Given the description of an element on the screen output the (x, y) to click on. 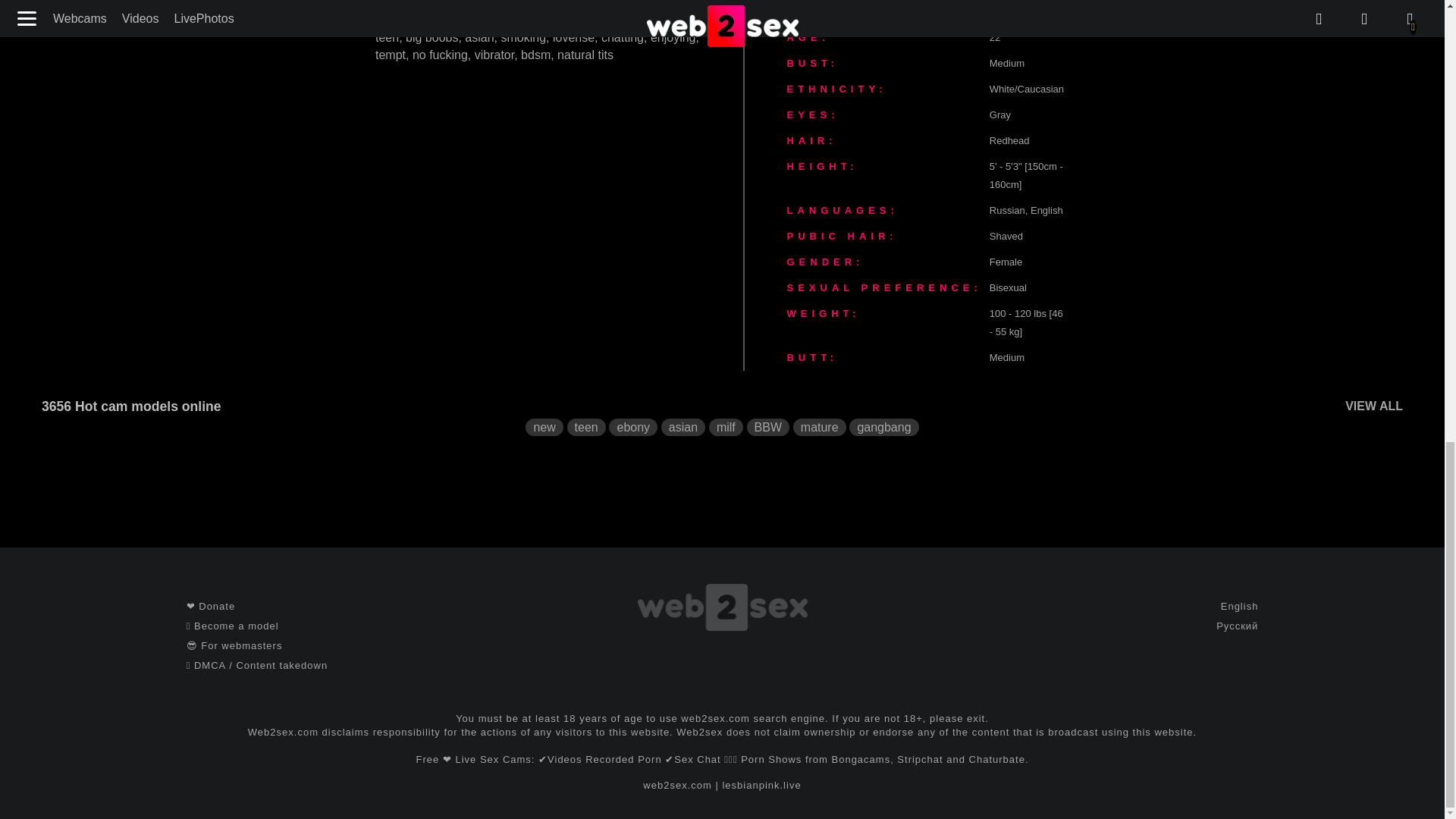
big boobs (432, 37)
smoking (523, 37)
lovense (573, 37)
chatting (622, 37)
tempt (390, 54)
teen (386, 37)
asian (478, 37)
enjoying (672, 37)
